Given the description of an element on the screen output the (x, y) to click on. 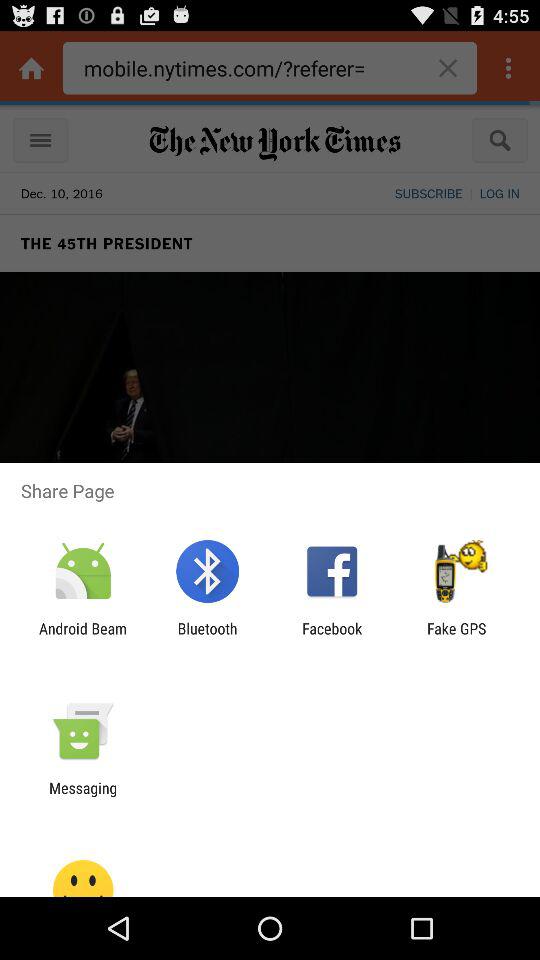
choose the facebook icon (332, 637)
